Given the description of an element on the screen output the (x, y) to click on. 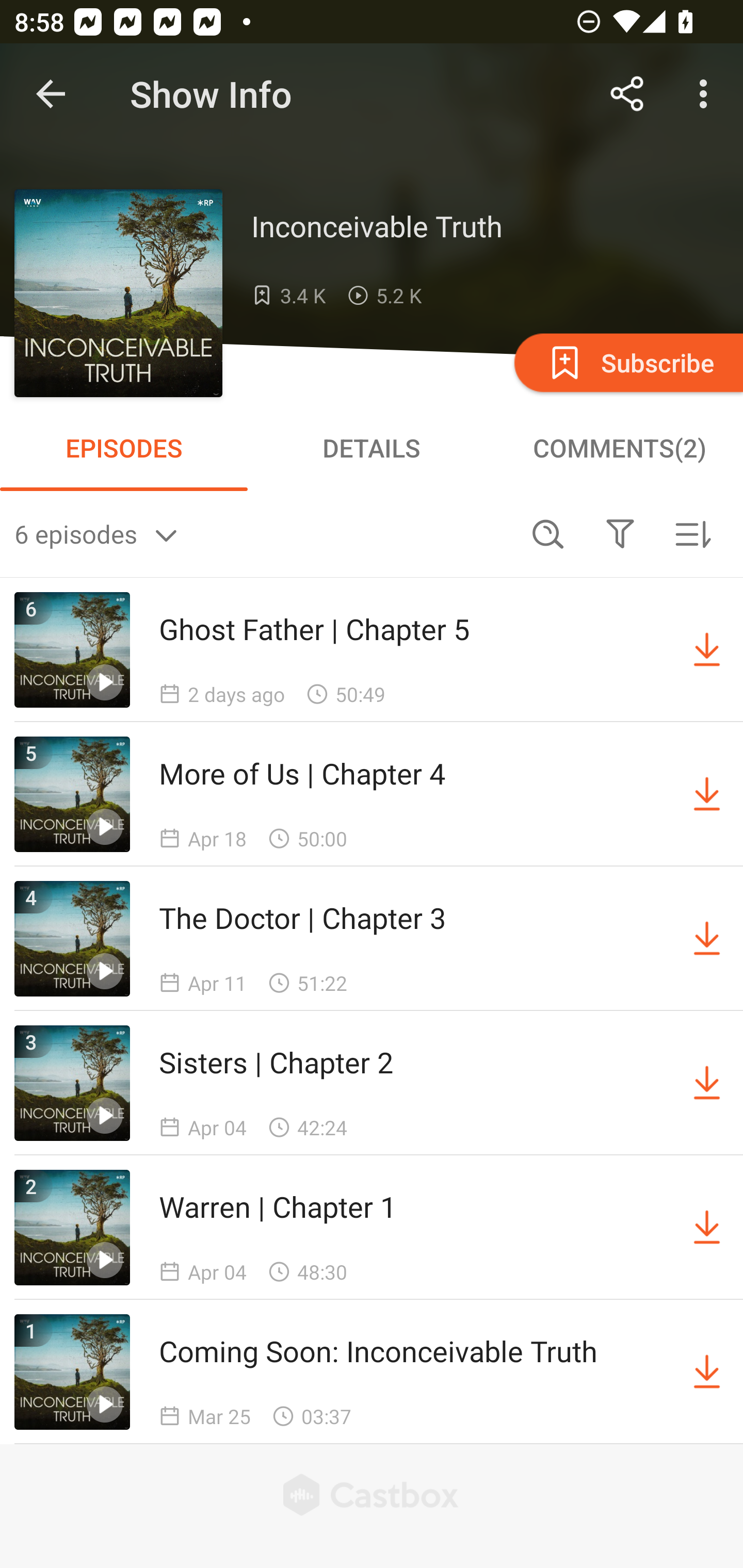
Navigate up (50, 93)
Share (626, 93)
More options (706, 93)
Subscribe (627, 361)
EPISODES (123, 447)
DETAILS (371, 447)
COMMENTS(2) (619, 447)
6 episodes  (262, 533)
 Search (547, 533)
 (619, 533)
 Sorted by newest first (692, 533)
Download (706, 649)
Download (706, 793)
Download (706, 939)
Download (706, 1083)
Download (706, 1227)
Download (706, 1371)
